Given the description of an element on the screen output the (x, y) to click on. 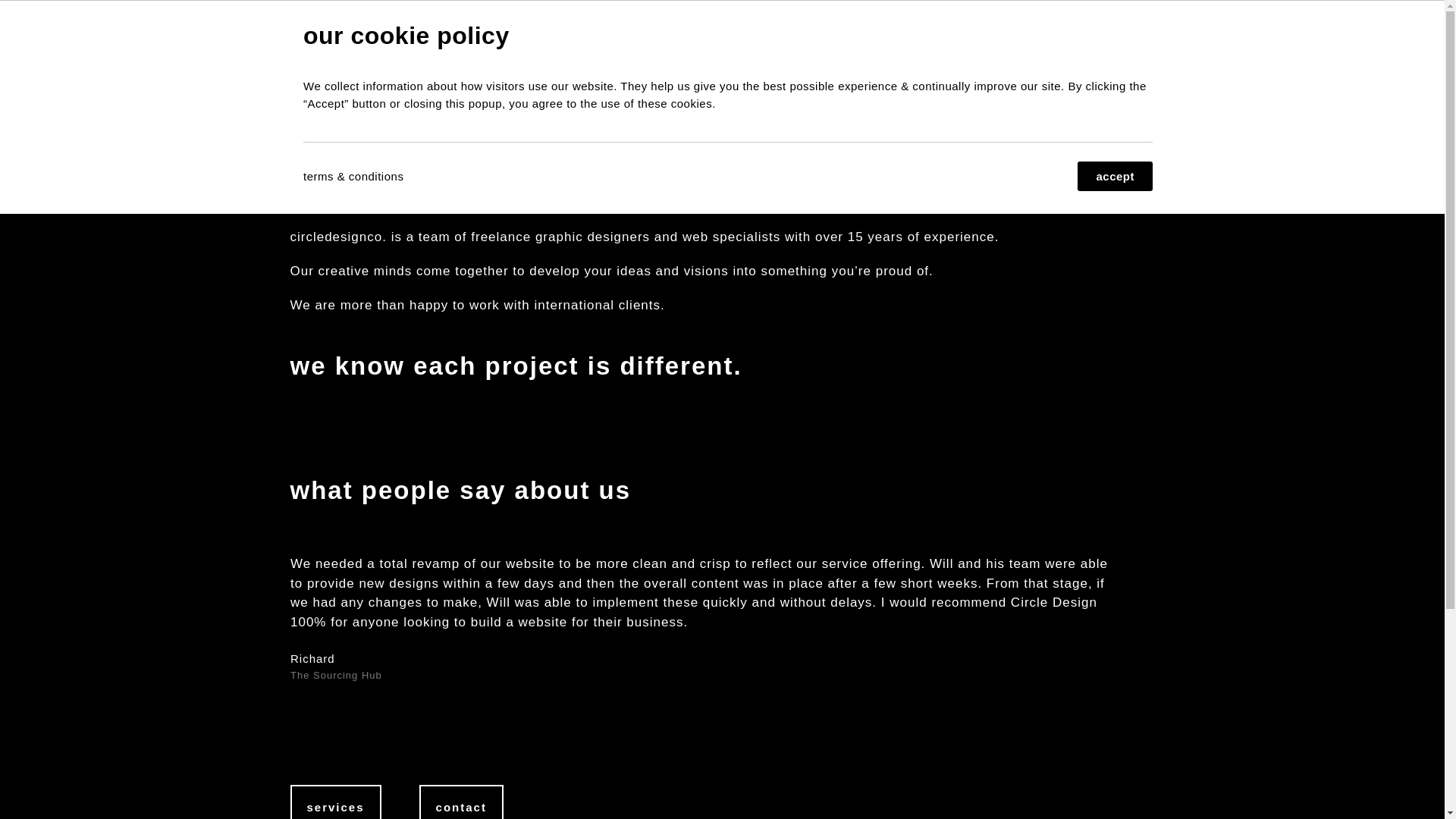
contact (461, 801)
services (334, 801)
menu (1125, 40)
contact (1065, 40)
accept (1115, 175)
